Given the description of an element on the screen output the (x, y) to click on. 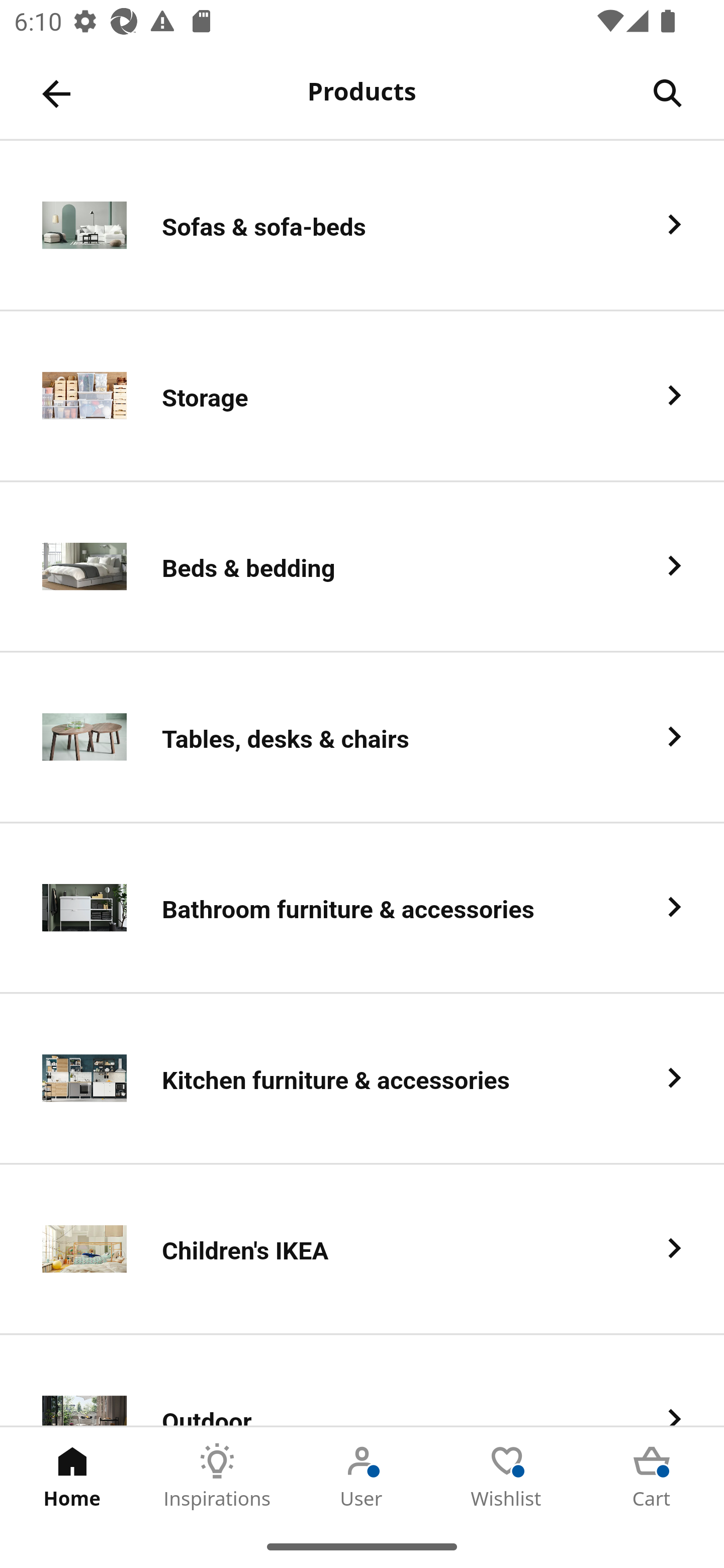
Sofas & sofa-beds (362, 226)
Storage (362, 396)
Beds & bedding (362, 566)
Tables, desks & chairs (362, 737)
Bathroom furniture & accessories (362, 908)
Kitchen furniture & accessories (362, 1079)
Children's IKEA (362, 1250)
Home
Tab 1 of 5 (72, 1476)
Inspirations
Tab 2 of 5 (216, 1476)
User
Tab 3 of 5 (361, 1476)
Wishlist
Tab 4 of 5 (506, 1476)
Cart
Tab 5 of 5 (651, 1476)
